Given the description of an element on the screen output the (x, y) to click on. 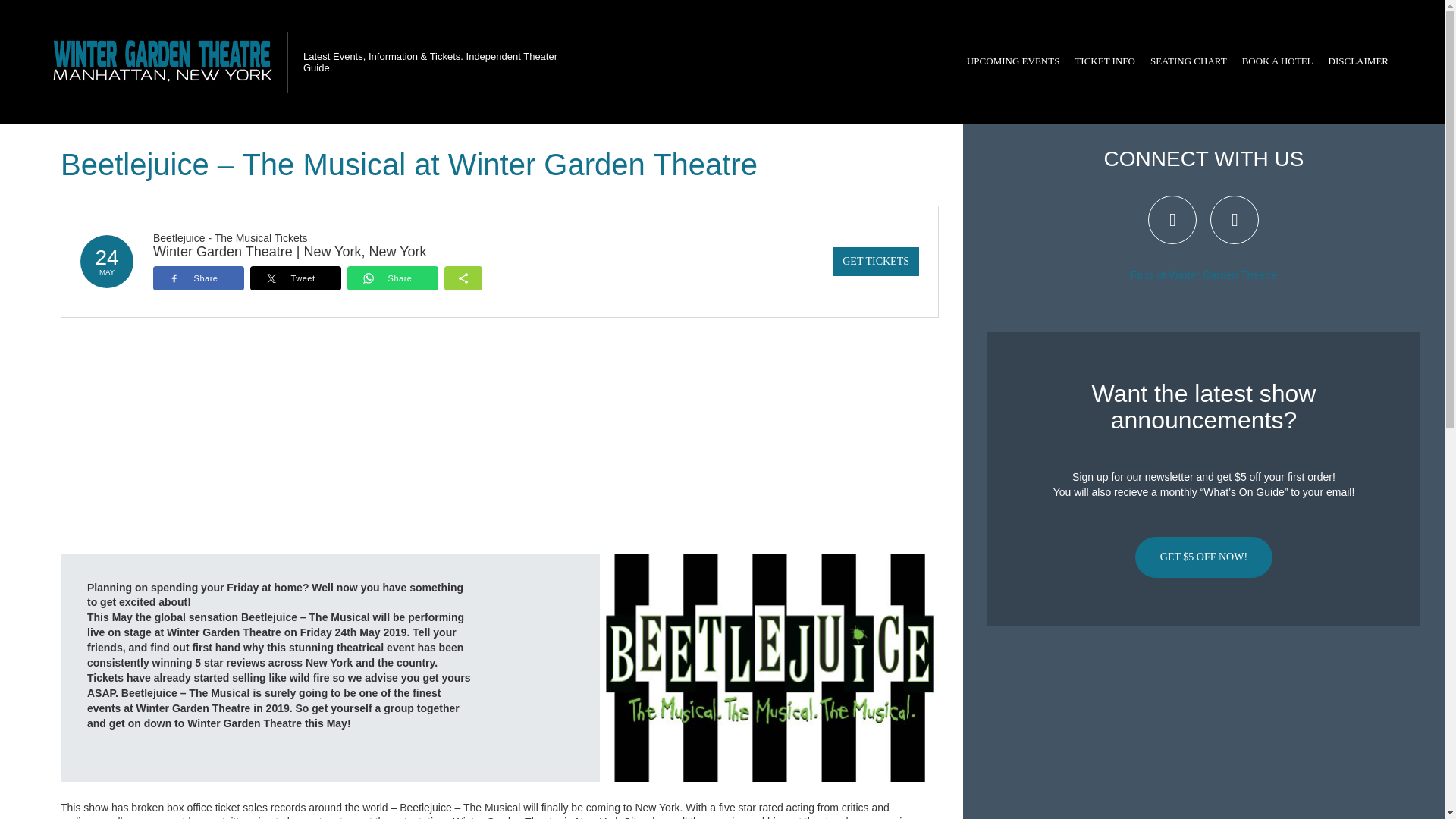
TICKET INFO (1104, 61)
SEATING CHART (1188, 61)
GET TICKETS (875, 261)
Fans of Winter Garden Theatre (1204, 275)
Beetlejuice - The Musical Tickets (229, 237)
Beetlejuice - The Musical at Winter Garden Theatre (769, 667)
Advertisement (1204, 728)
BOOK A HOTEL (1277, 61)
DISCLAIMER (1358, 61)
UPCOMING EVENTS (1013, 61)
